Given the description of an element on the screen output the (x, y) to click on. 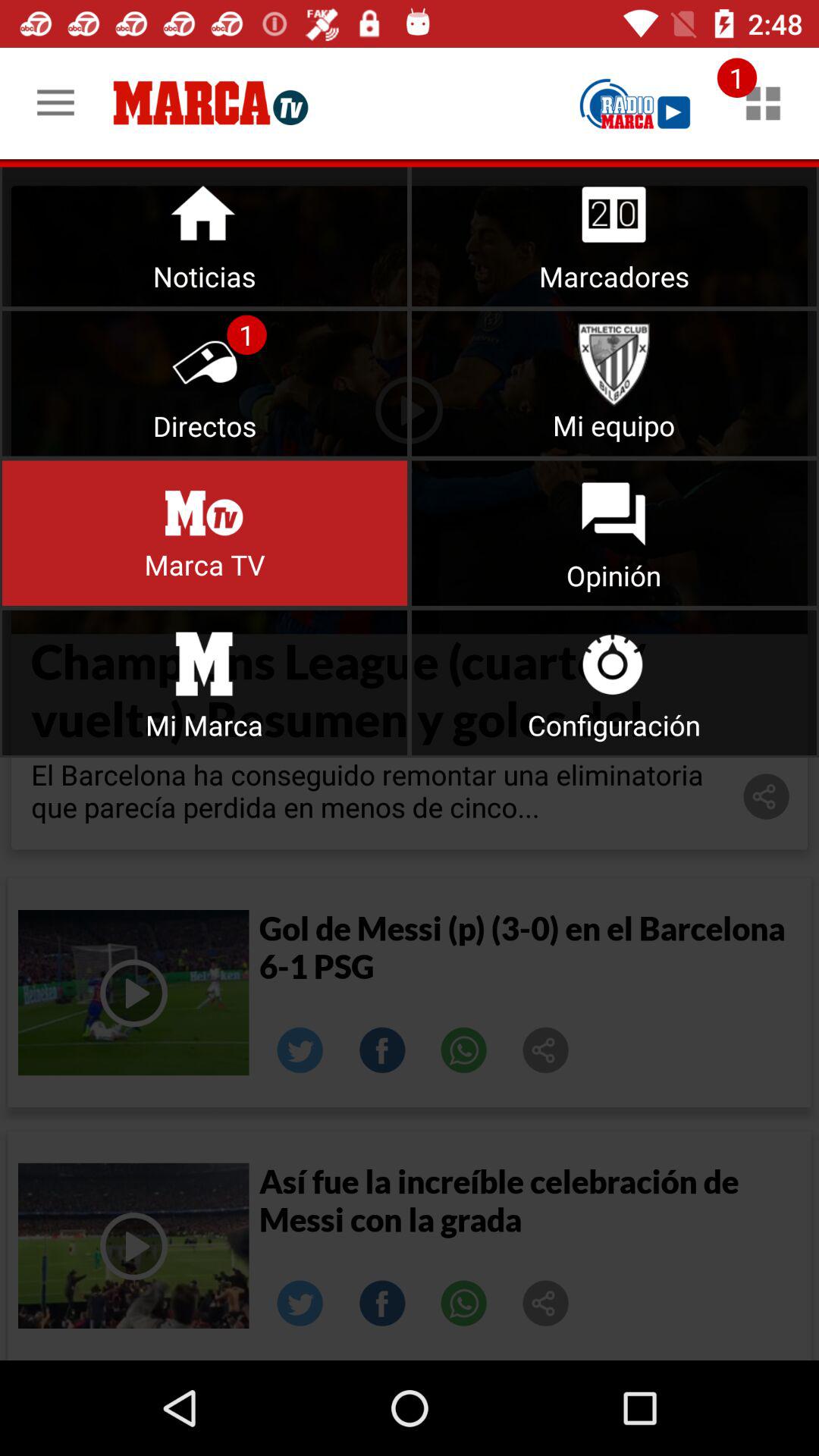
share options (545, 1303)
